Given the description of an element on the screen output the (x, y) to click on. 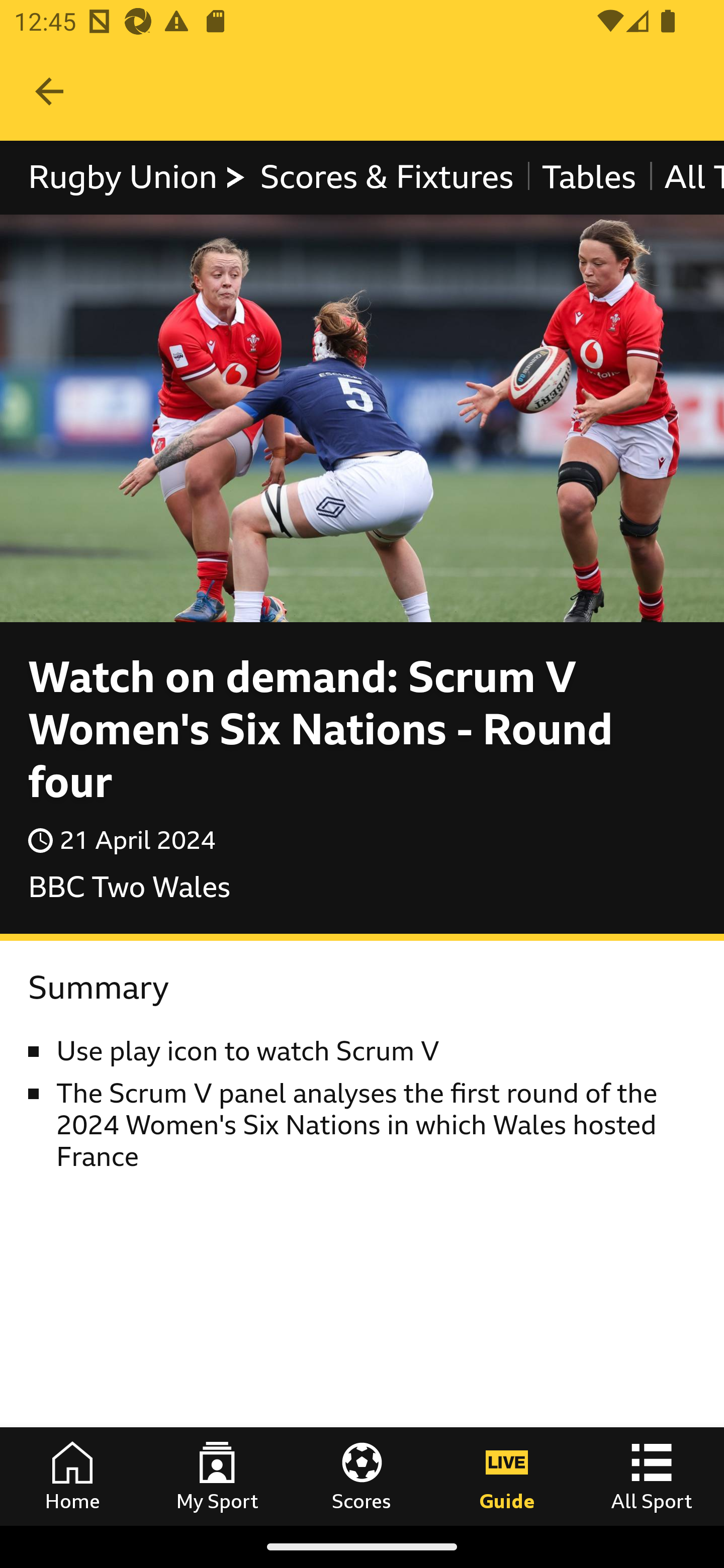
Navigate up (49, 91)
Rugby Union  (137, 177)
Scores & Fixtures (385, 177)
Tables (587, 177)
Home (72, 1475)
My Sport (216, 1475)
Scores (361, 1475)
All Sport (651, 1475)
